Given the description of an element on the screen output the (x, y) to click on. 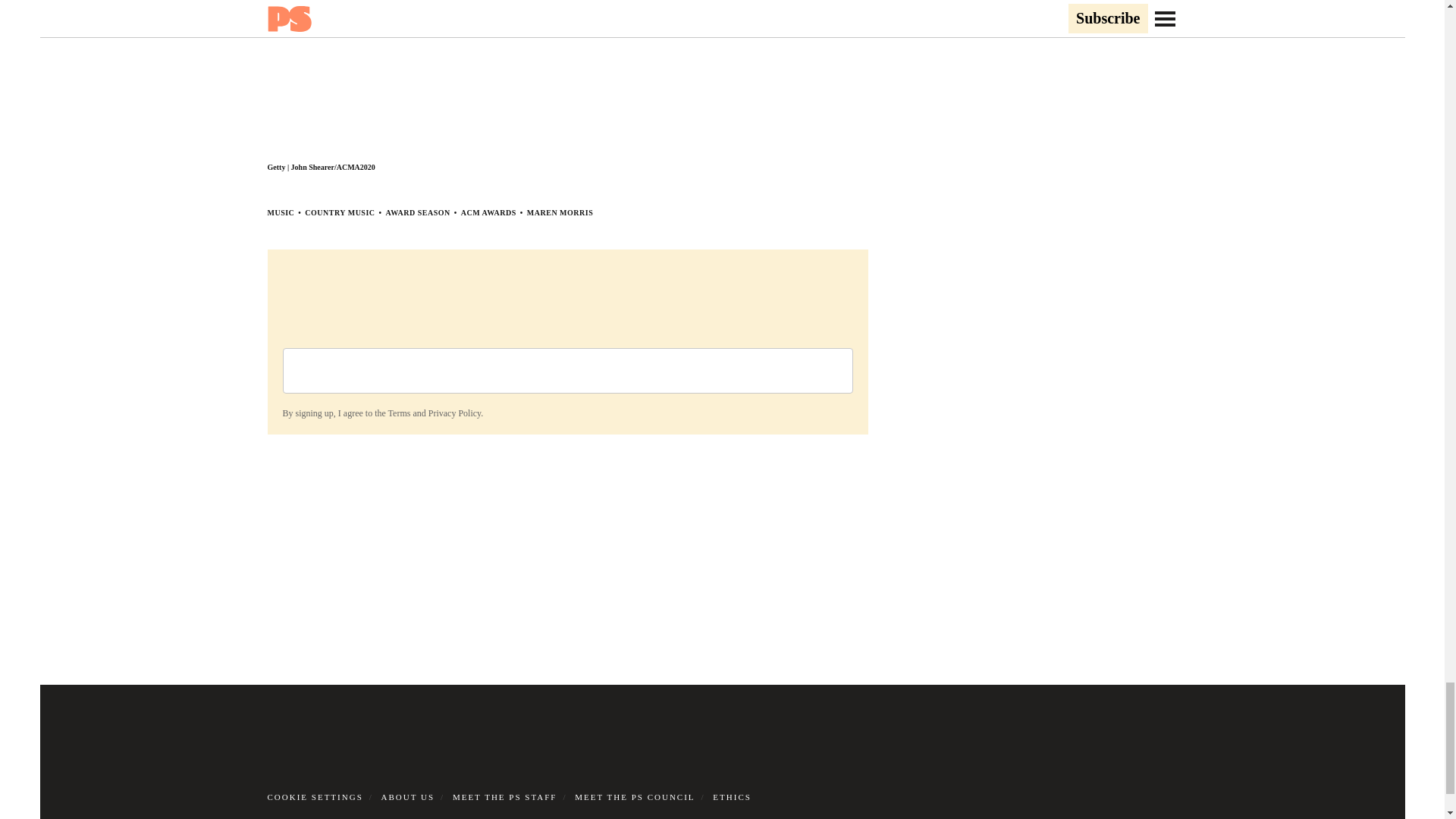
Terms (399, 412)
AWARD SEASON (417, 212)
COUNTRY MUSIC (339, 212)
ACM AWARDS (488, 212)
MEET THE PS STAFF (504, 797)
MUSIC (280, 212)
ABOUT US (408, 797)
Privacy Policy. (455, 412)
MAREN MORRIS (559, 212)
